Given the description of an element on the screen output the (x, y) to click on. 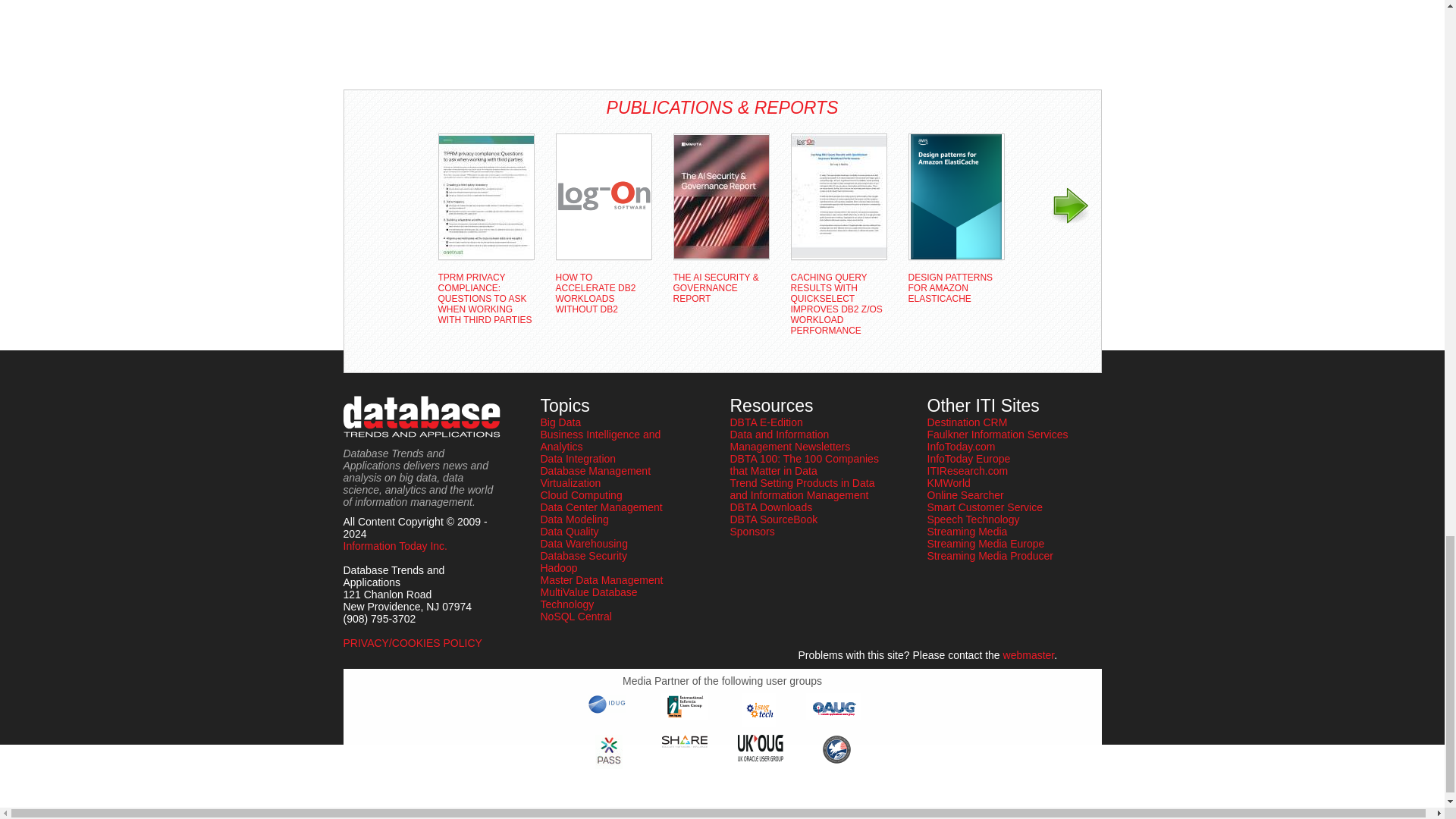
3rd party ad content (403, 39)
